Given the description of an element on the screen output the (x, y) to click on. 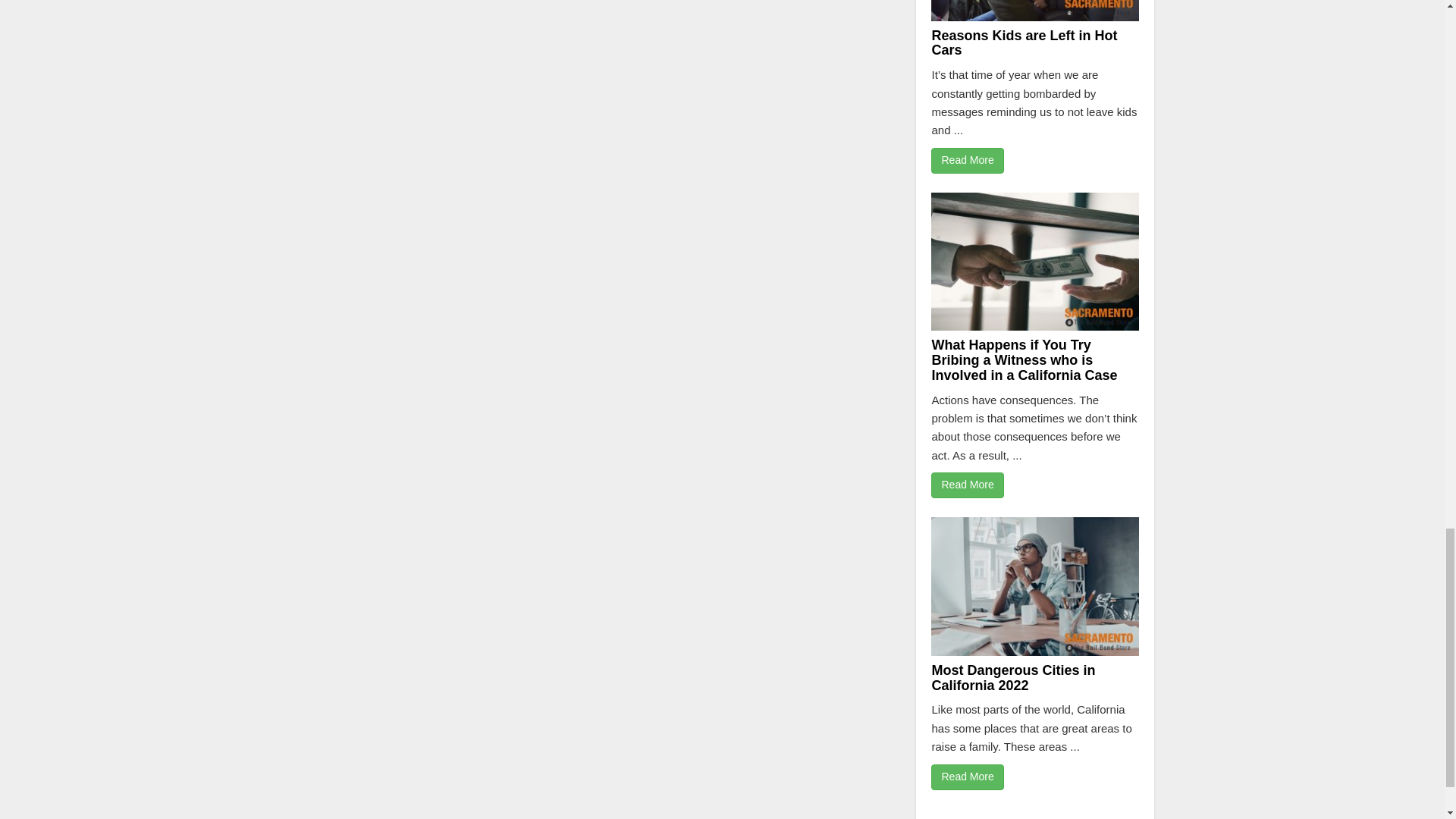
Read More (967, 160)
Read More (967, 777)
Most Dangerous Cities in California 2022 (1012, 677)
Reasons Kids are Left in Hot Cars (1023, 42)
Read More (967, 484)
